Given the description of an element on the screen output the (x, y) to click on. 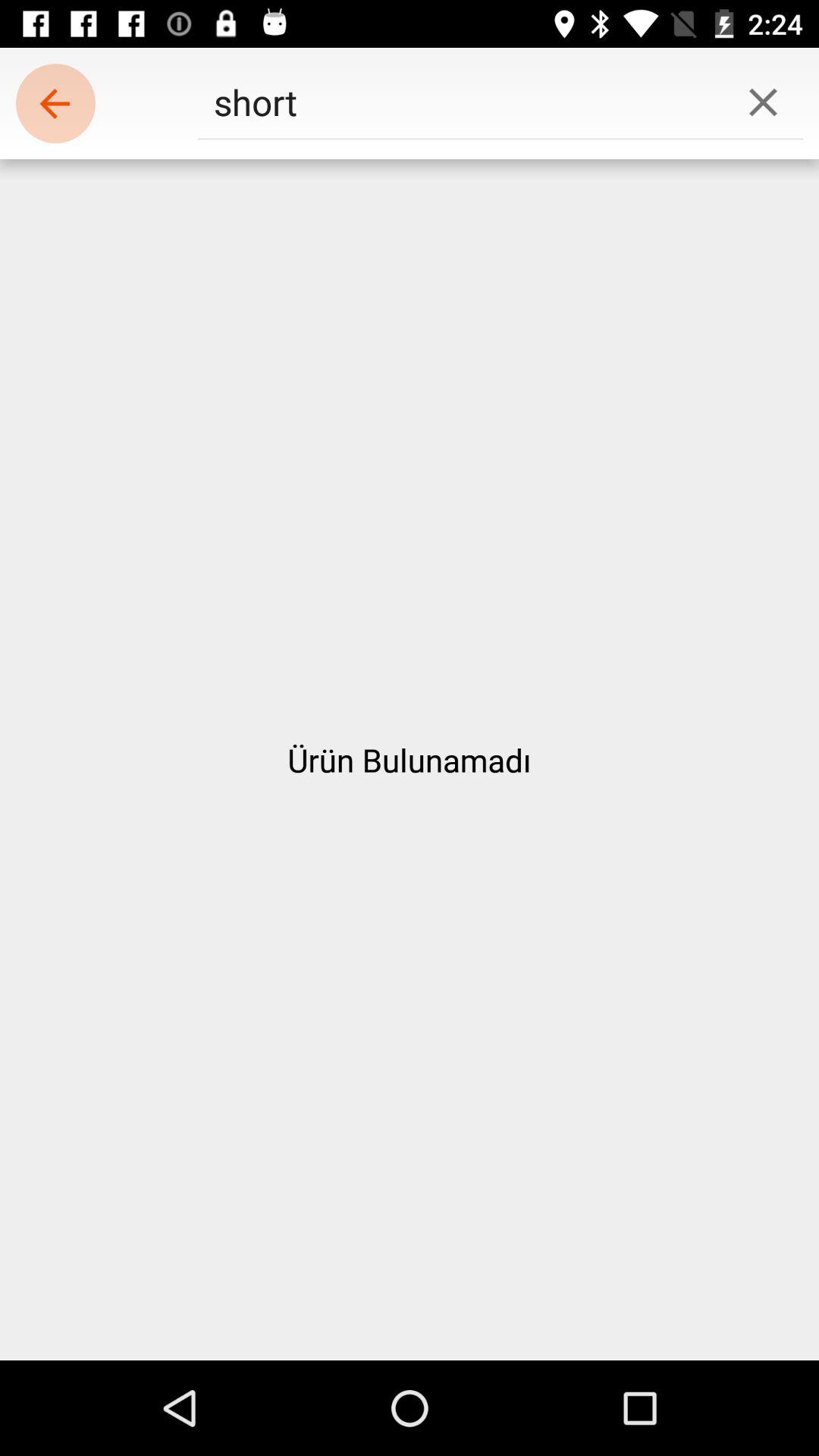
flip to short icon (460, 102)
